Given the description of an element on the screen output the (x, y) to click on. 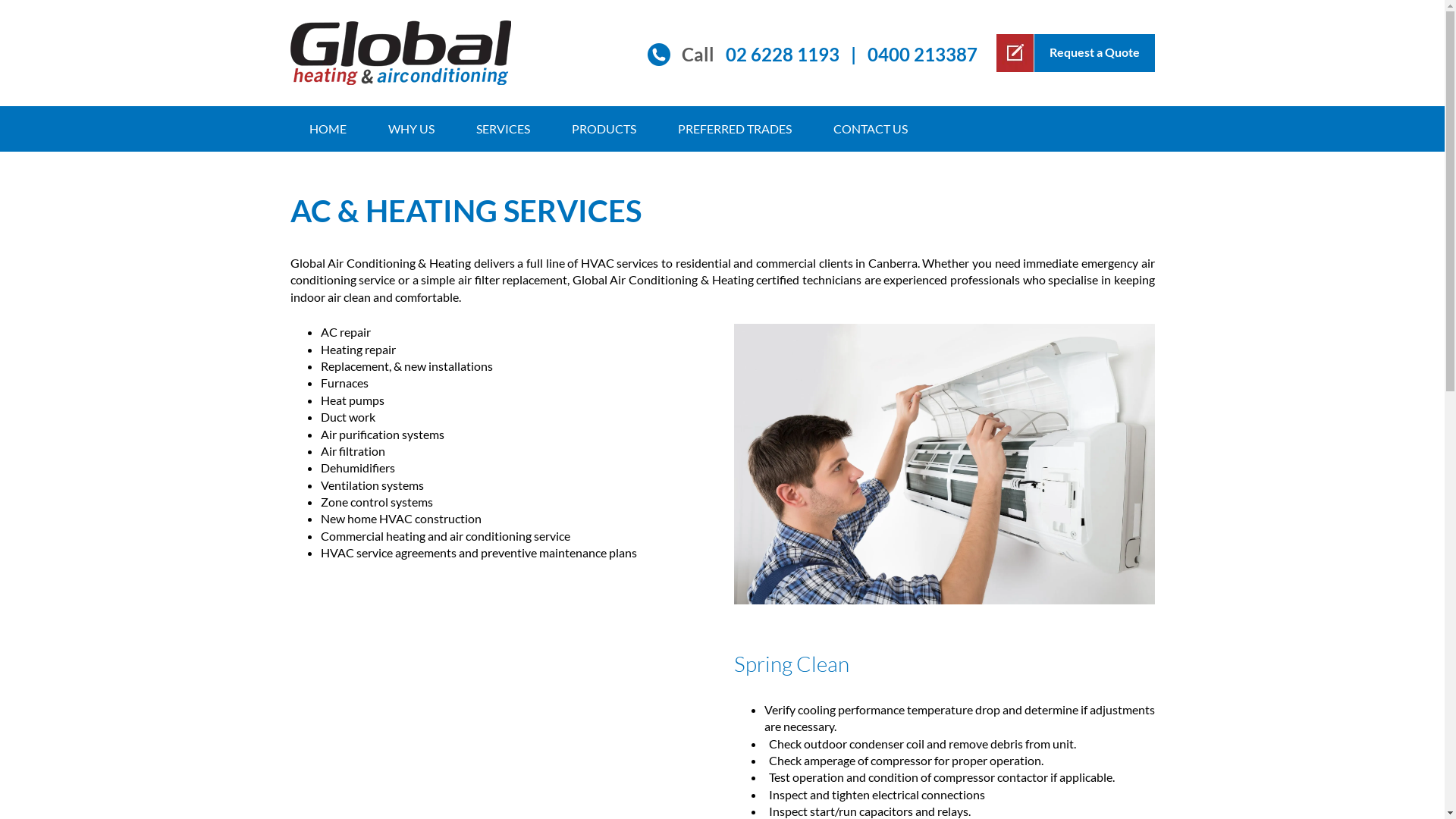
02 6228 1193 Element type: text (781, 54)
Request a Quote Element type: text (1075, 53)
0400 213387 Element type: text (922, 54)
PRODUCTS Element type: text (603, 128)
HOME Element type: text (326, 128)
CONTACT US Element type: text (870, 128)
WHY US Element type: text (410, 128)
PREFERRED TRADES Element type: text (733, 128)
SERVICES Element type: text (502, 128)
